Given the description of an element on the screen output the (x, y) to click on. 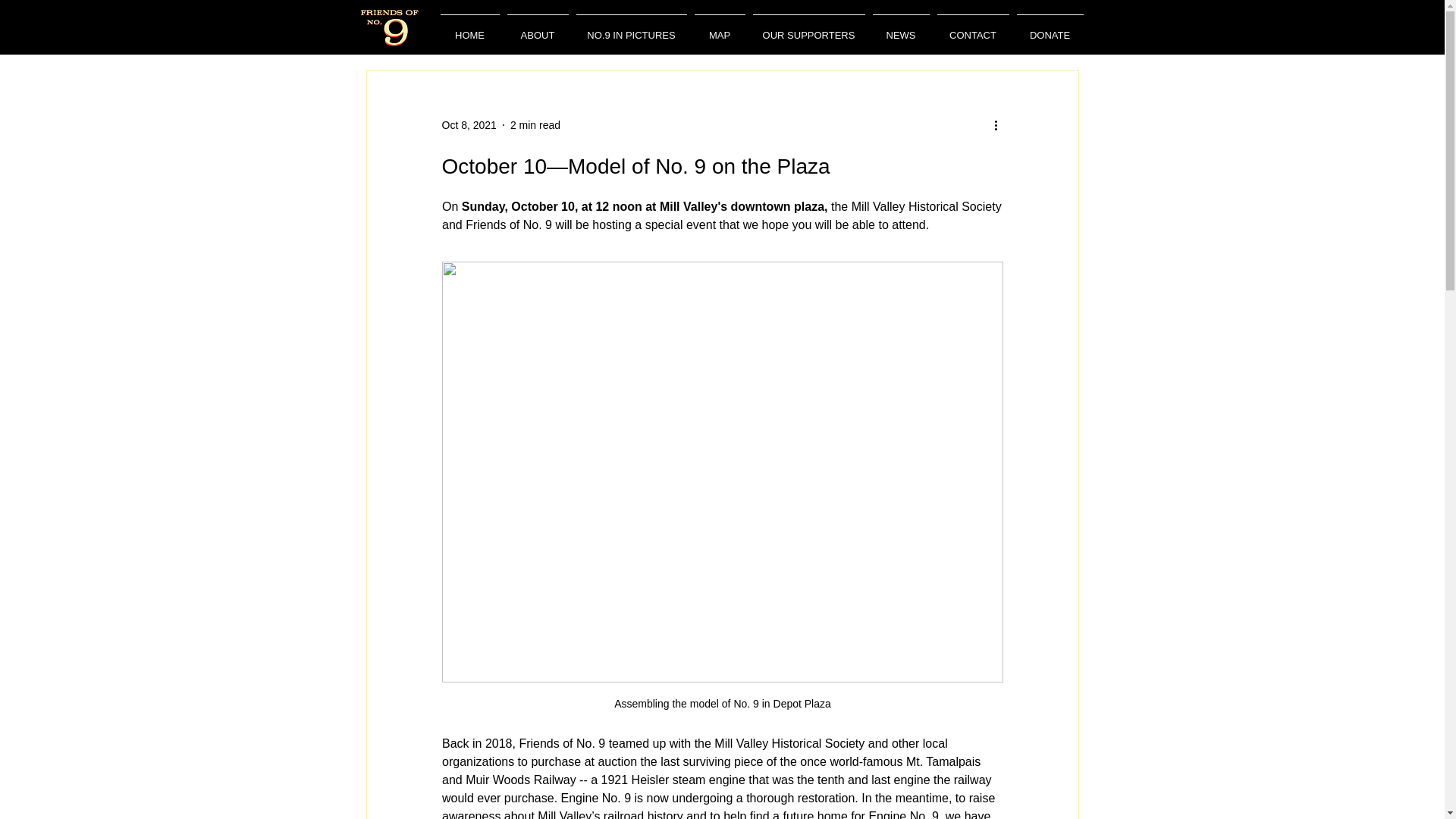
Oct 8, 2021 (468, 123)
MAP (719, 28)
HOME (469, 28)
DONATE (1050, 28)
OUR SUPPORTERS (809, 28)
2 min read (535, 123)
CONTACT (972, 28)
NEWS (901, 28)
NO.9 IN PICTURES (631, 28)
ABOUT (537, 28)
